Given the description of an element on the screen output the (x, y) to click on. 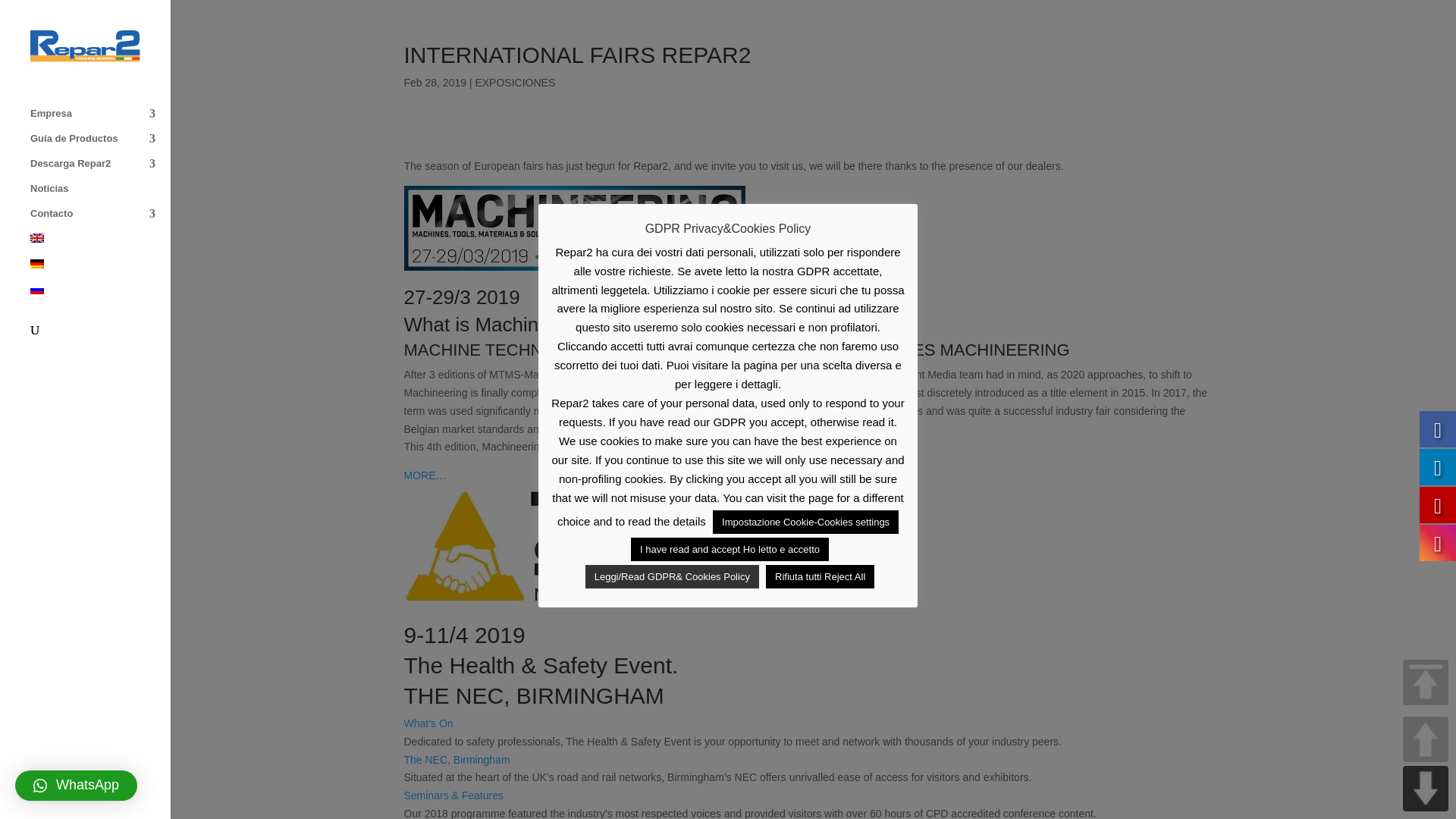
Descarga Repar2 (100, 170)
Noticias (100, 195)
Contacto (100, 220)
Empresa (100, 120)
